Given the description of an element on the screen output the (x, y) to click on. 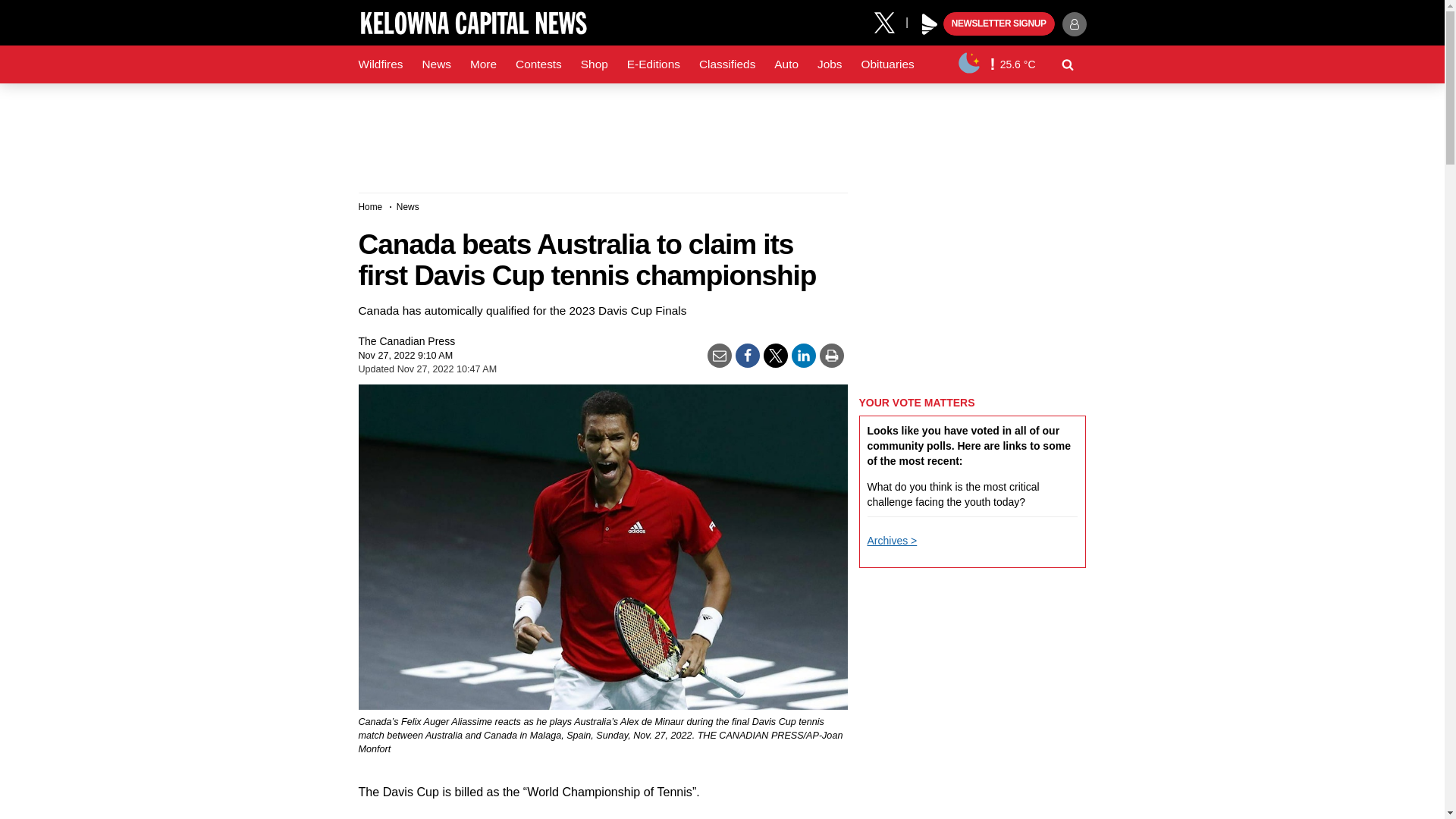
X (889, 21)
Black Press Media (929, 24)
Wildfires (380, 64)
NEWSLETTER SIGNUP (998, 24)
News (435, 64)
Play (929, 24)
